Given the description of an element on the screen output the (x, y) to click on. 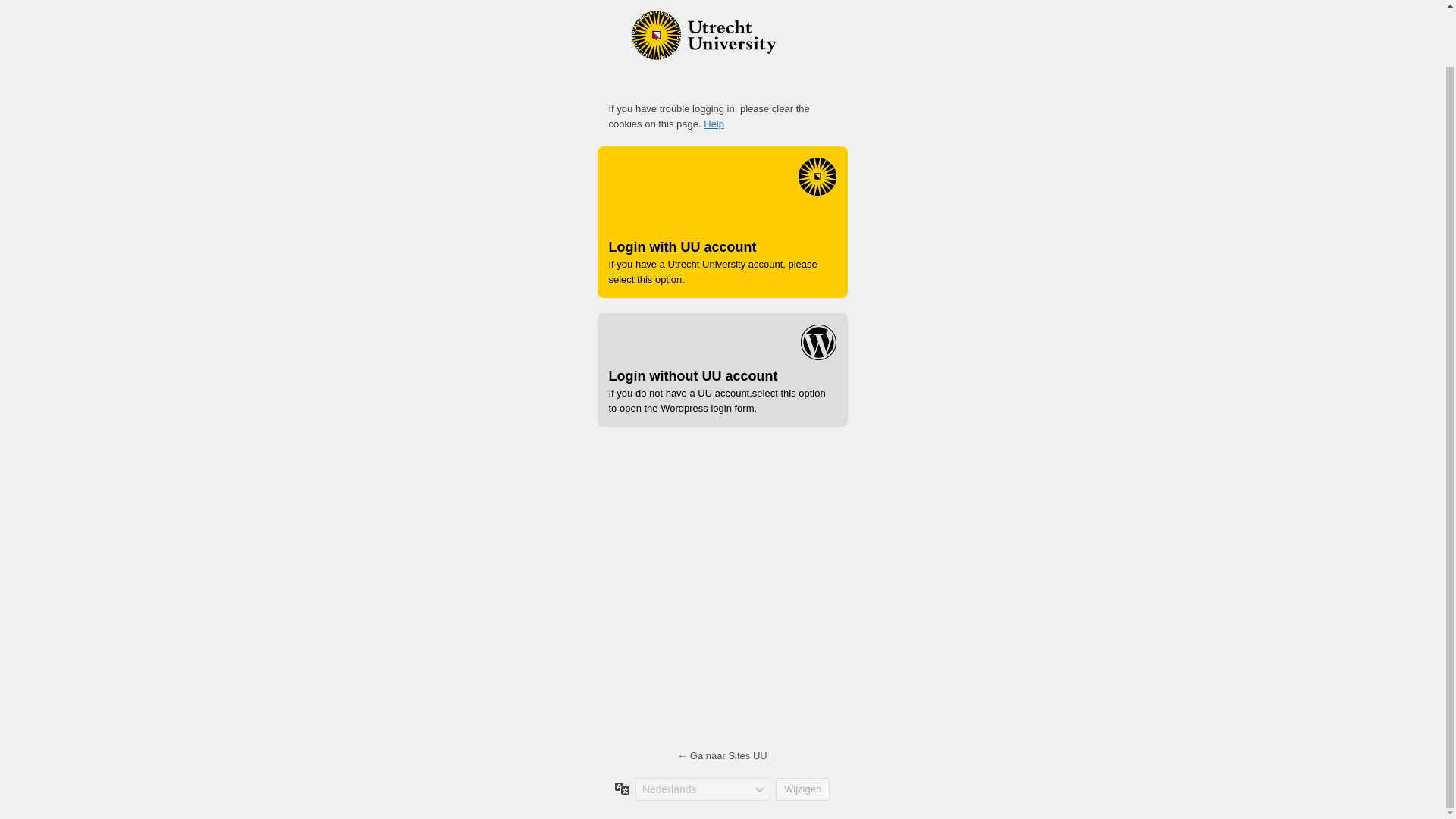
Inloggen (788, 595)
Wijzigen (802, 789)
Mogelijk gemaakt door WordPress (721, 46)
Wijzigen (802, 789)
Help (713, 123)
